Given the description of an element on the screen output the (x, y) to click on. 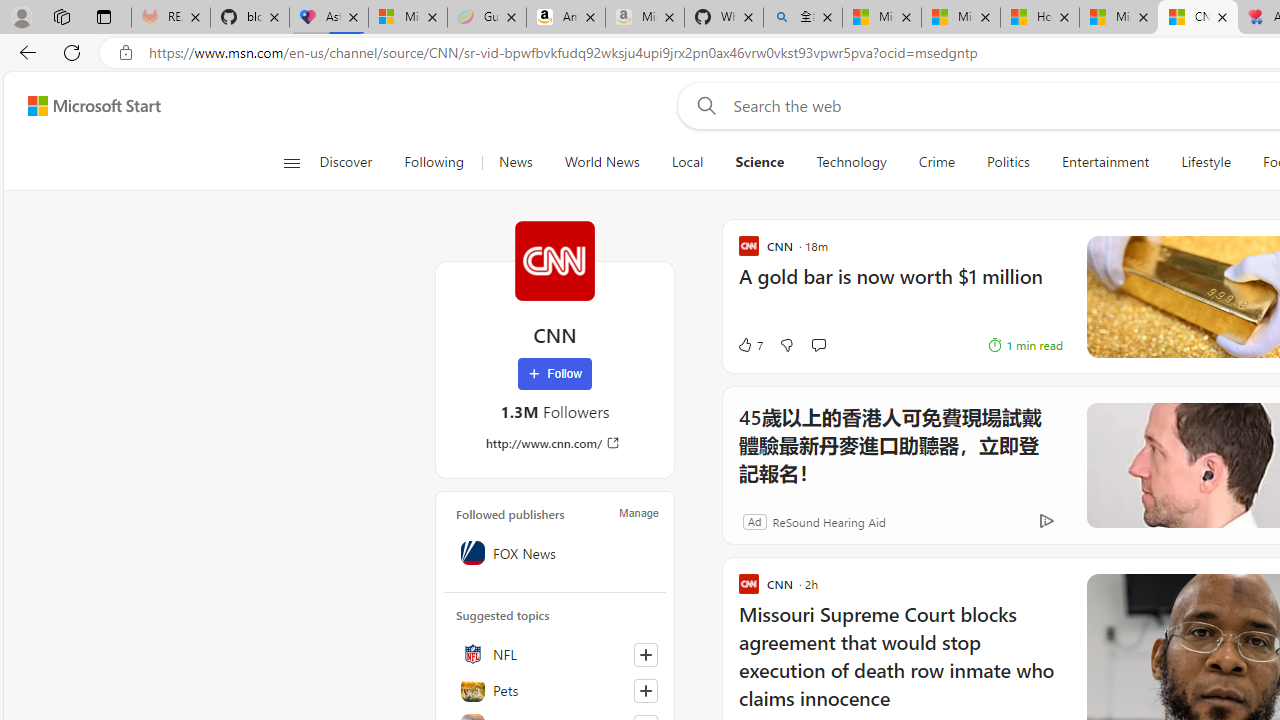
Pets (555, 690)
Crime (936, 162)
FOX News (555, 552)
Entertainment (1105, 162)
Skip to content (86, 105)
Lifestyle (1205, 162)
7 Like (749, 344)
CNN (554, 260)
News (515, 162)
Science (759, 162)
